Given the description of an element on the screen output the (x, y) to click on. 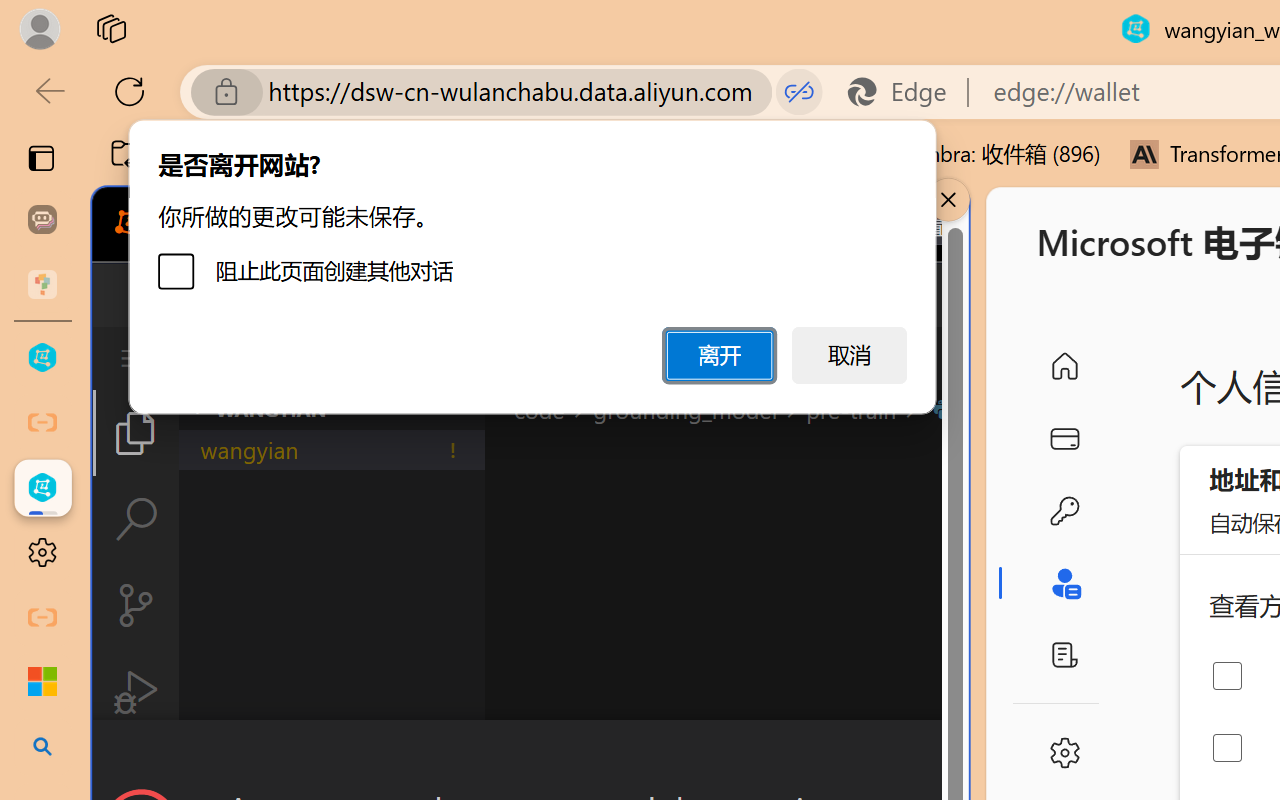
Class: actions-container (529, 756)
Run and Debug (Ctrl+Shift+D) (135, 692)
Close Dialog (959, 756)
Microsoft security help and learning (42, 681)
